Given the description of an element on the screen output the (x, y) to click on. 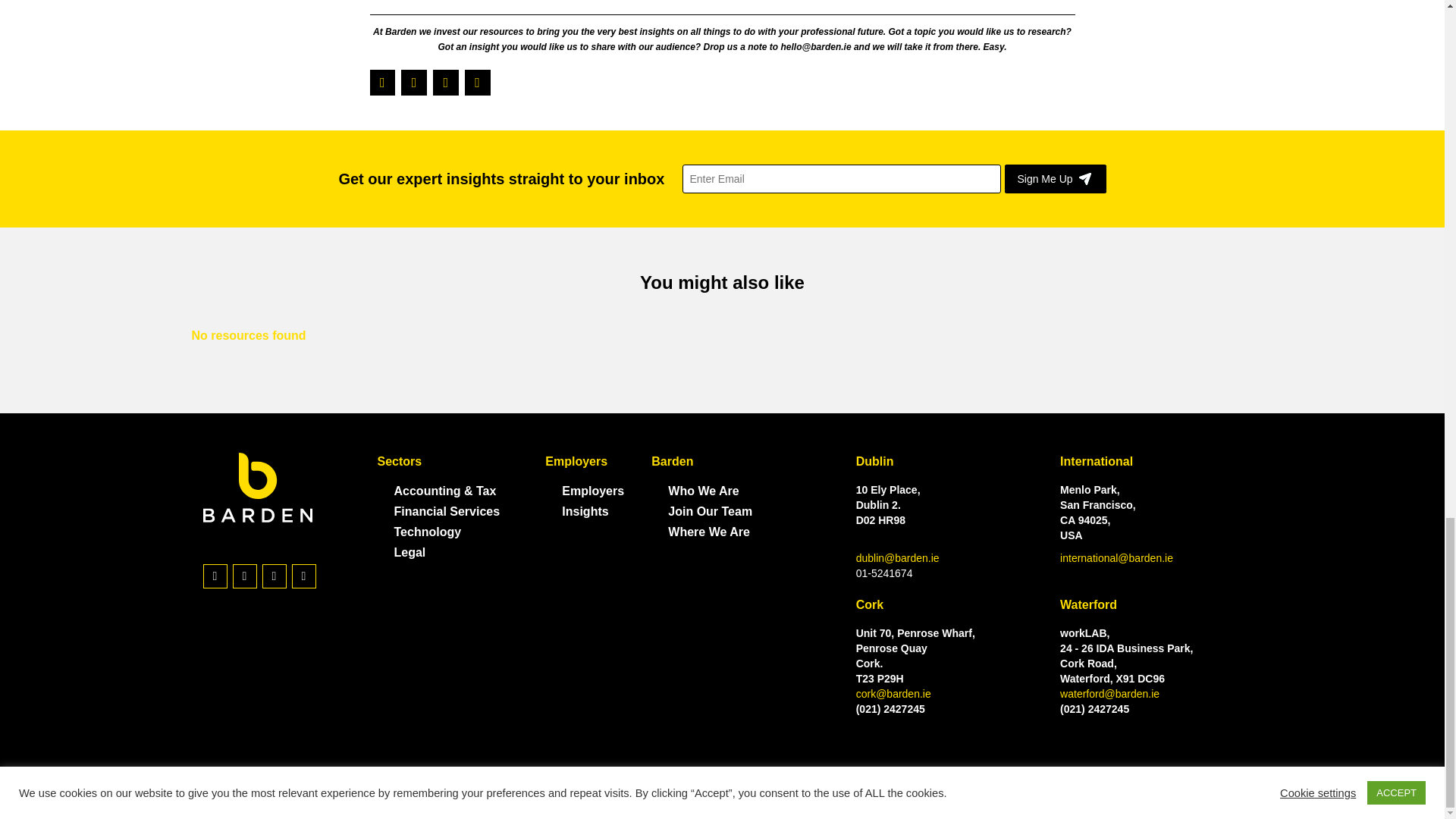
Sign Me Up (1054, 178)
